Given the description of an element on the screen output the (x, y) to click on. 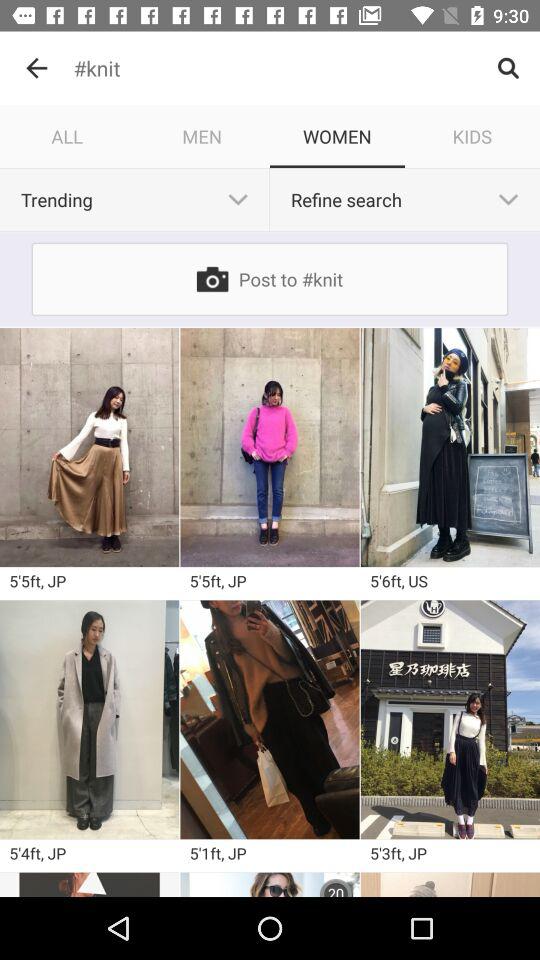
click the kids item (472, 136)
